Given the description of an element on the screen output the (x, y) to click on. 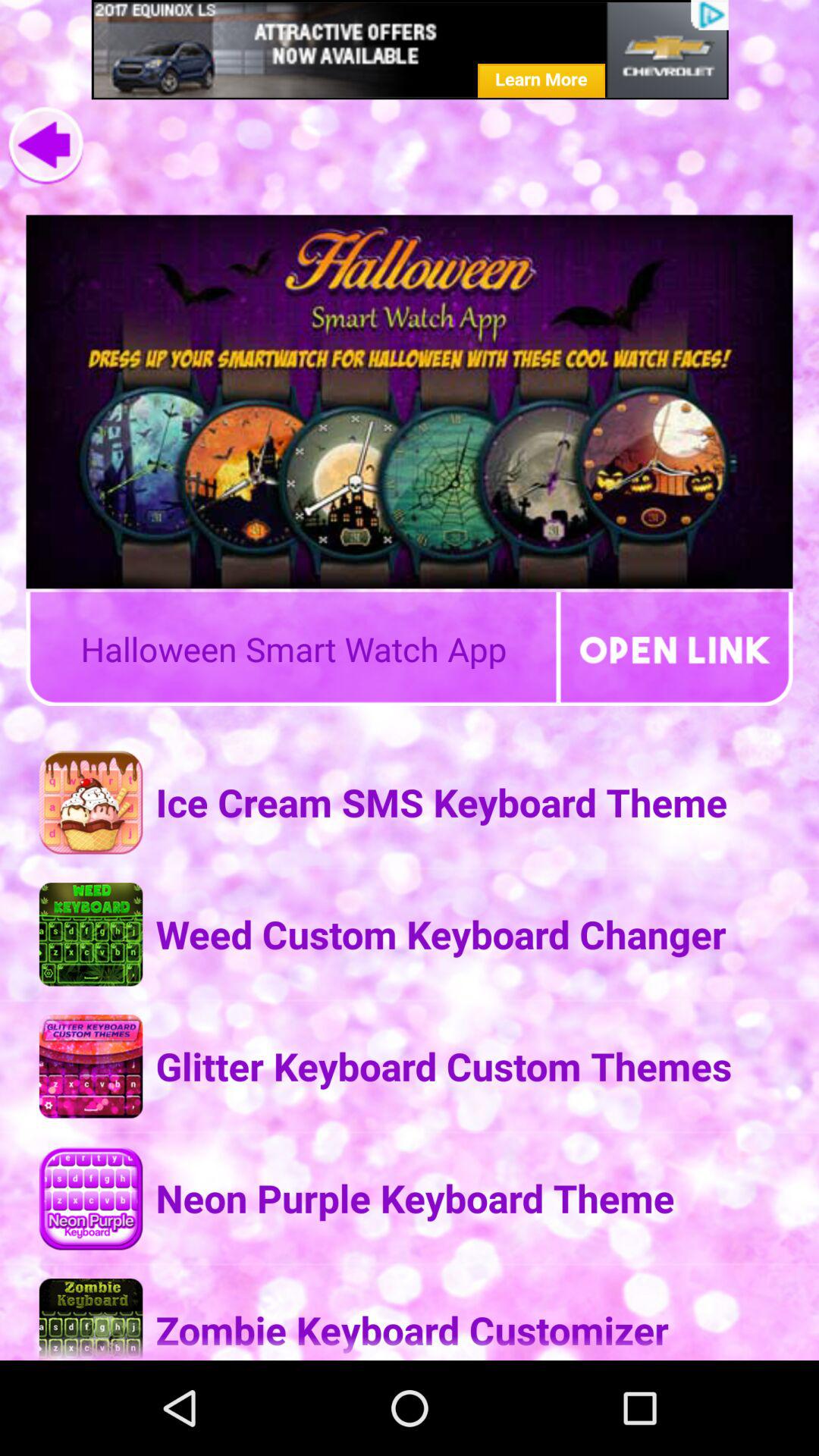
go to advert (409, 49)
